Given the description of an element on the screen output the (x, y) to click on. 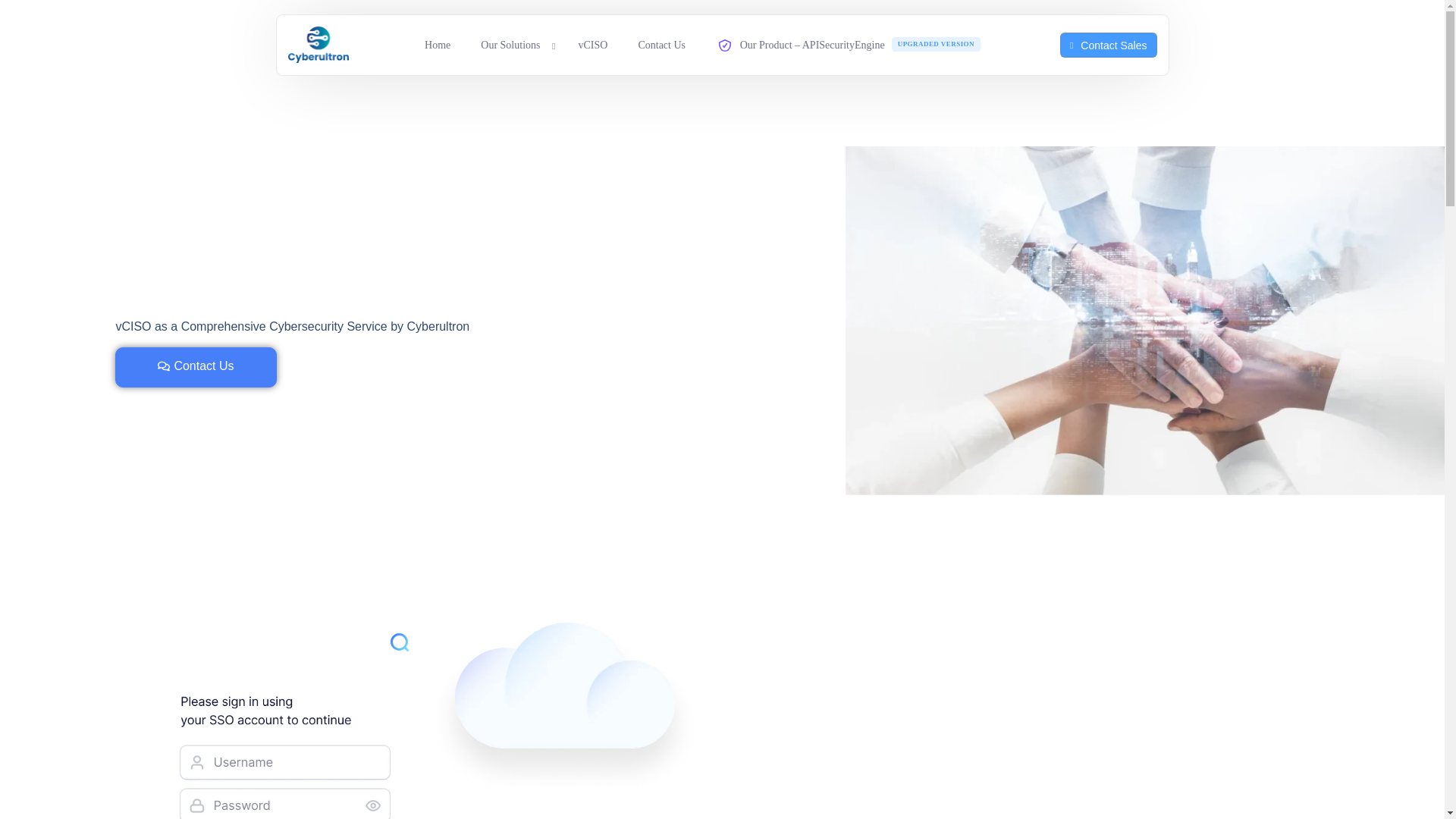
Contact Sales (1108, 44)
Our Solutions (513, 45)
Home (437, 45)
Contact Us (195, 367)
vCISO (592, 45)
Contact Us (661, 45)
